Given the description of an element on the screen output the (x, y) to click on. 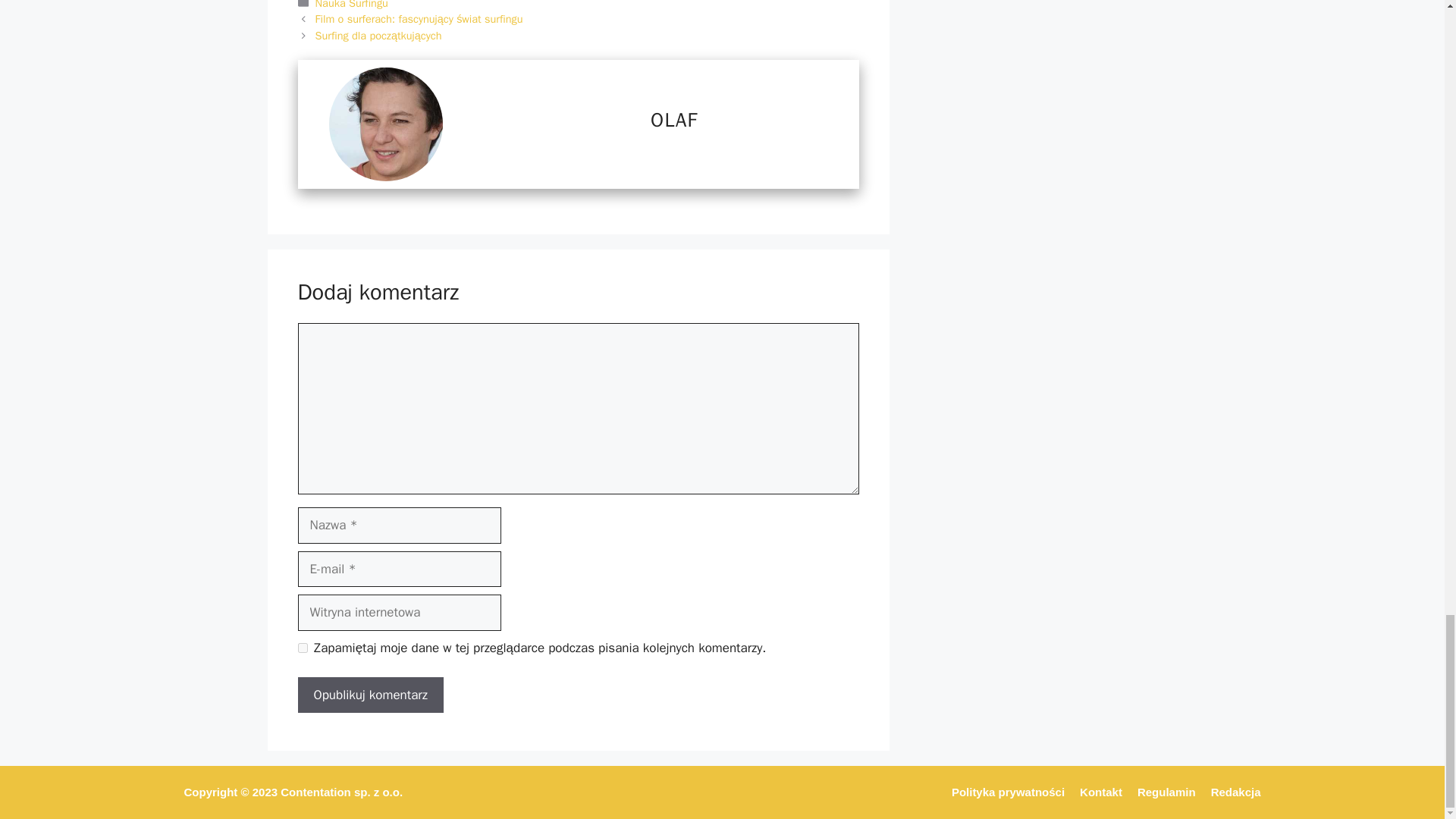
Opublikuj komentarz (369, 695)
yes (302, 647)
Nauka Surfingu (351, 4)
Opublikuj komentarz (369, 695)
